Given the description of an element on the screen output the (x, y) to click on. 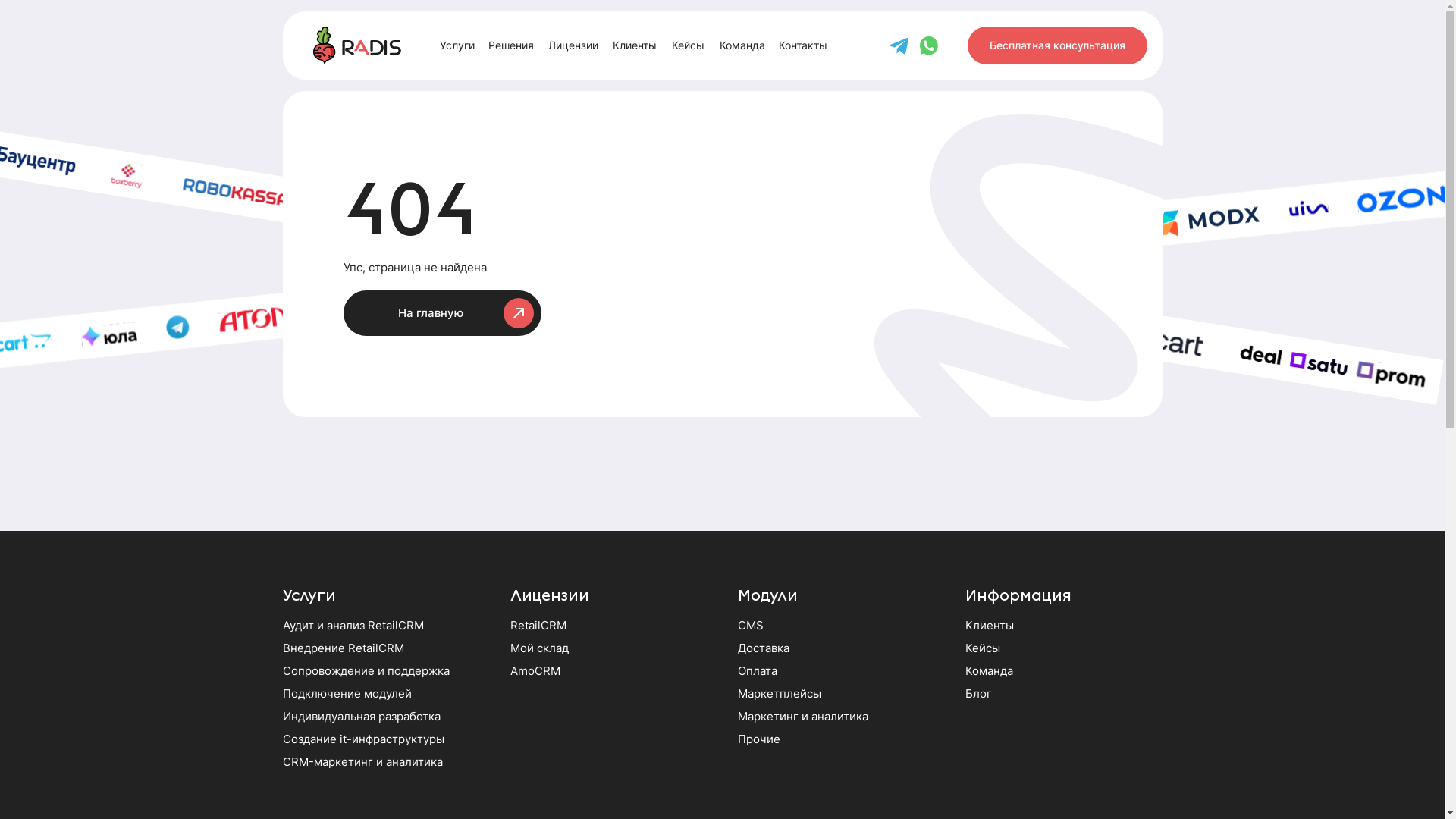
AmoCRM Element type: text (534, 670)
RetailCRM Element type: text (537, 625)
CMS Element type: text (749, 625)
